Given the description of an element on the screen output the (x, y) to click on. 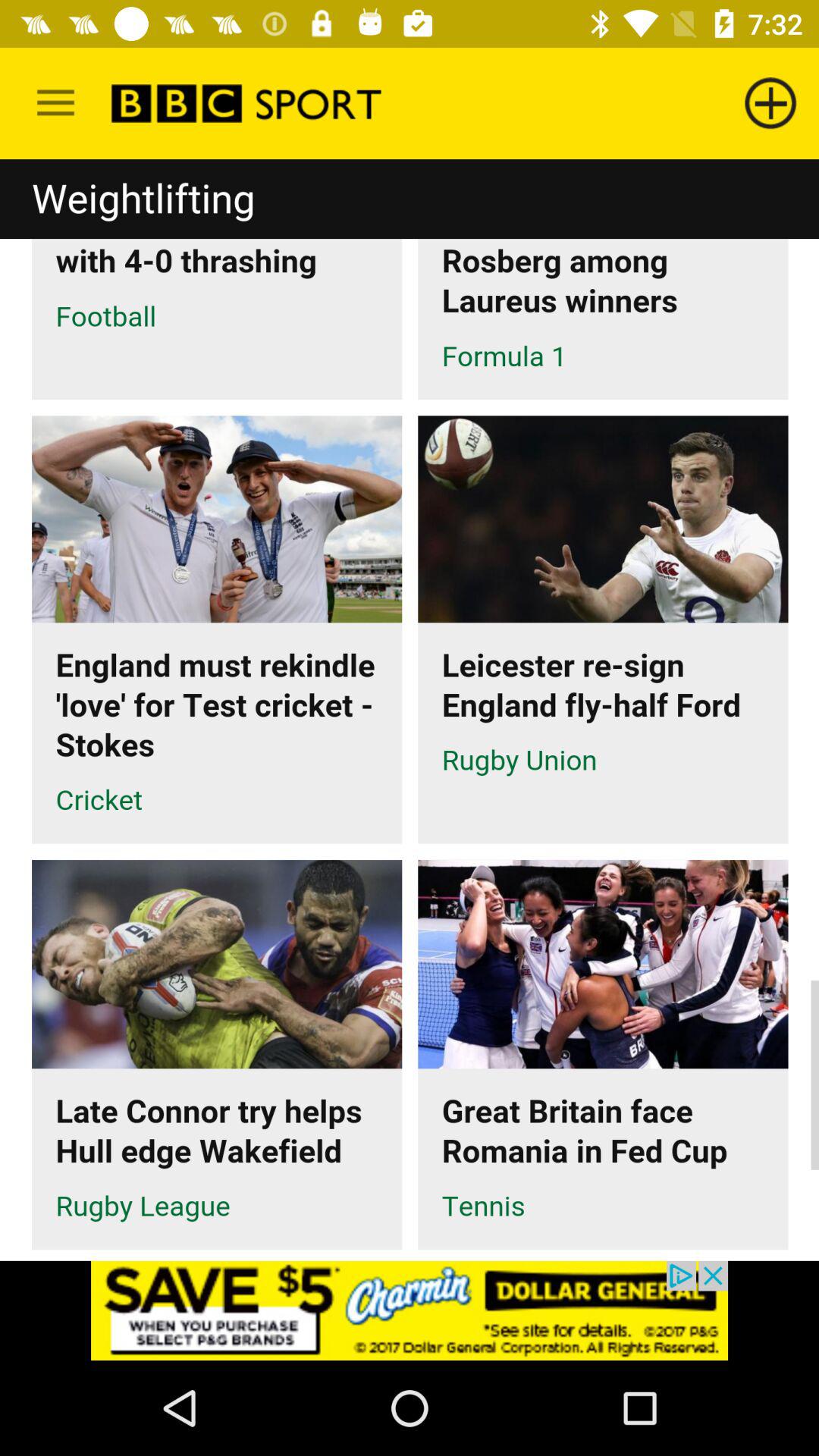
news in sports (409, 709)
